Given the description of an element on the screen output the (x, y) to click on. 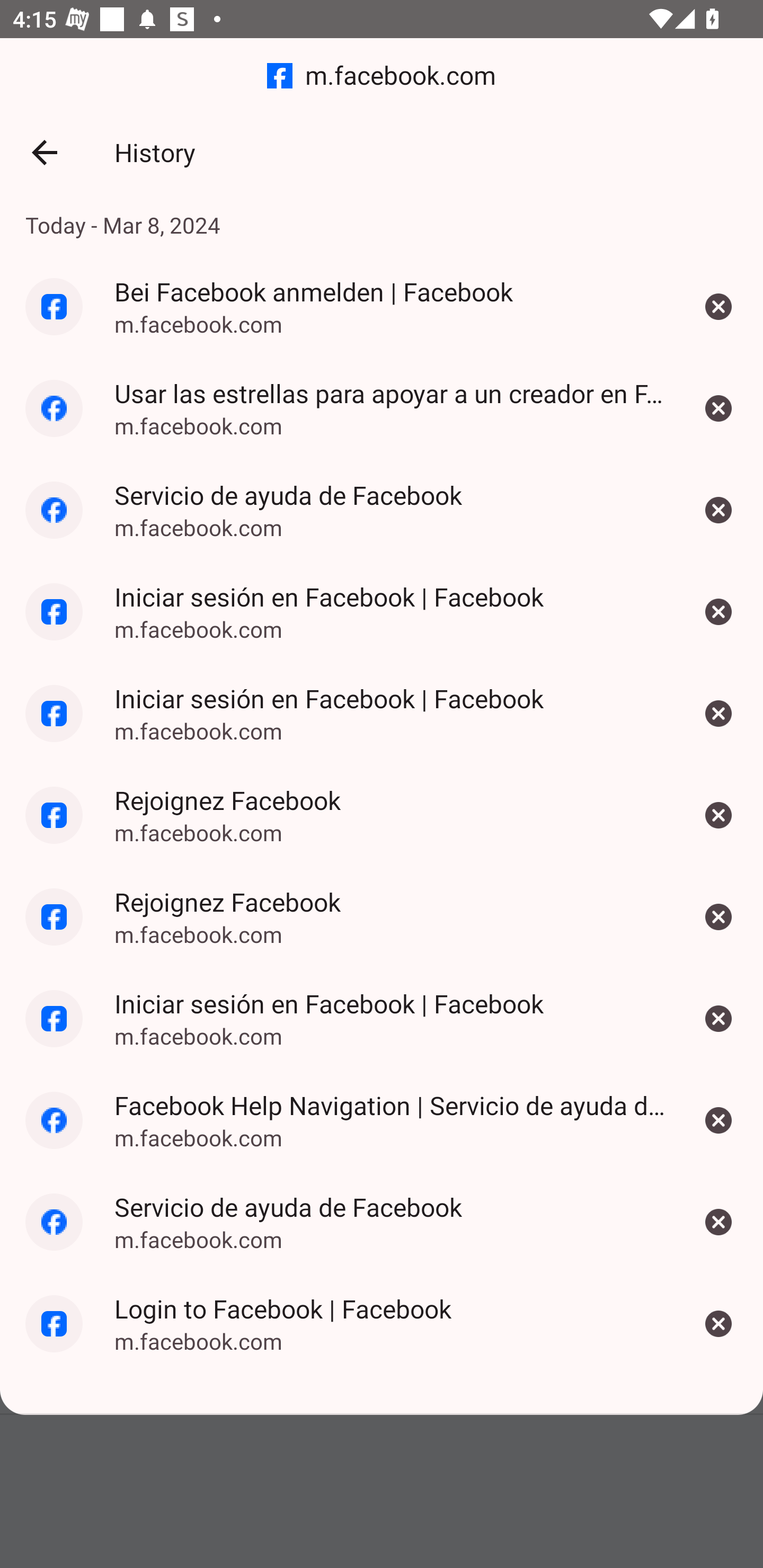
m.facebook.com (381, 75)
Back (44, 152)
Bei Facebook anmelden | Facebook Remove (718, 306)
Servicio de ayuda de Facebook Remove (718, 510)
Iniciar sesión en Facebook | Facebook Remove (718, 612)
Iniciar sesión en Facebook | Facebook Remove (718, 714)
Rejoignez Facebook Remove (718, 815)
Rejoignez Facebook Remove (718, 916)
Iniciar sesión en Facebook | Facebook Remove (718, 1018)
Servicio de ayuda de Facebook Remove (718, 1222)
Login to Facebook | Facebook Remove (718, 1324)
